Given the description of an element on the screen output the (x, y) to click on. 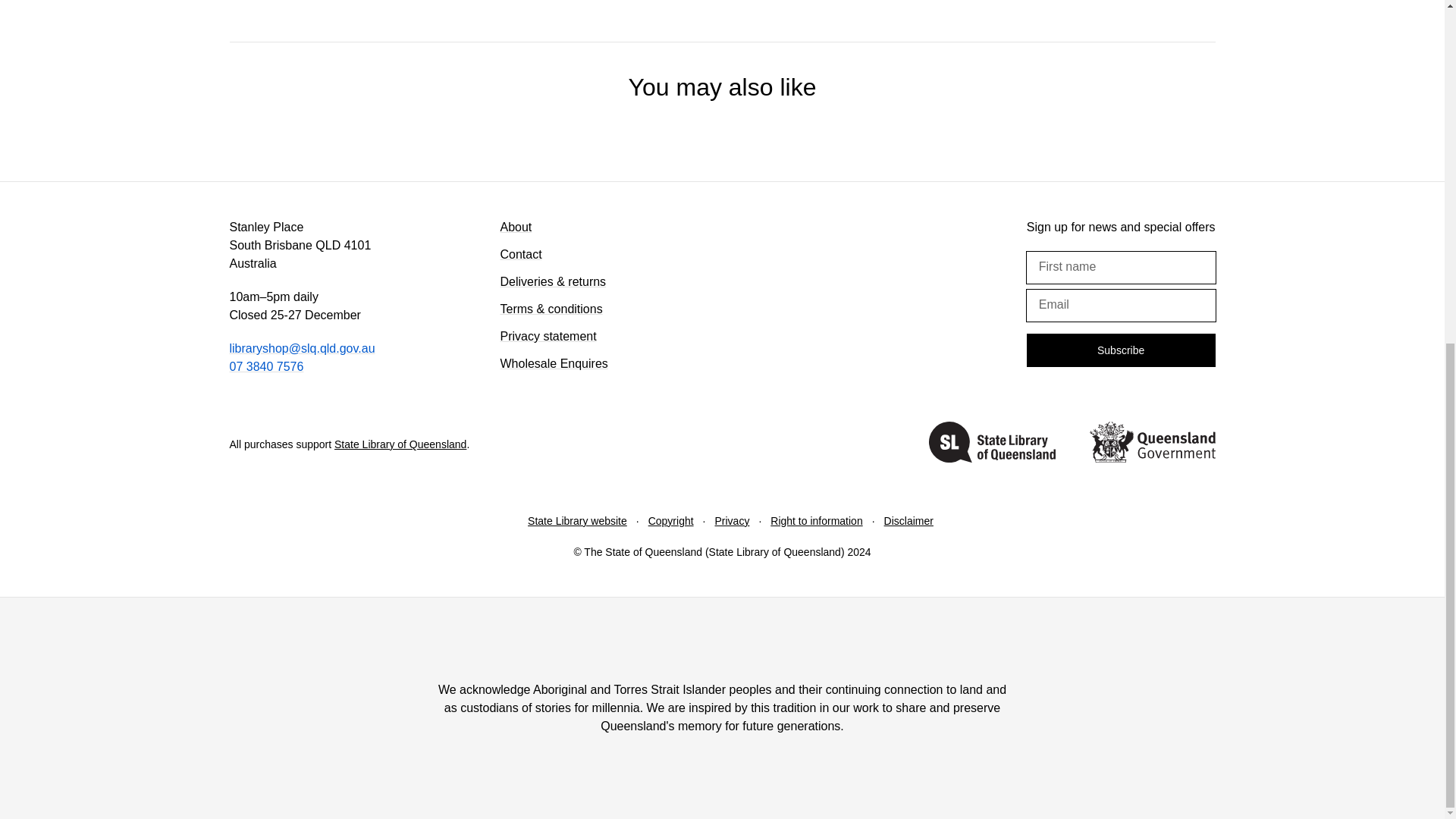
tel:07 3840 7576 (265, 366)
Go to Queensland Government homepage (1151, 444)
Go to Queensland State Library homepage (992, 444)
